Given the description of an element on the screen output the (x, y) to click on. 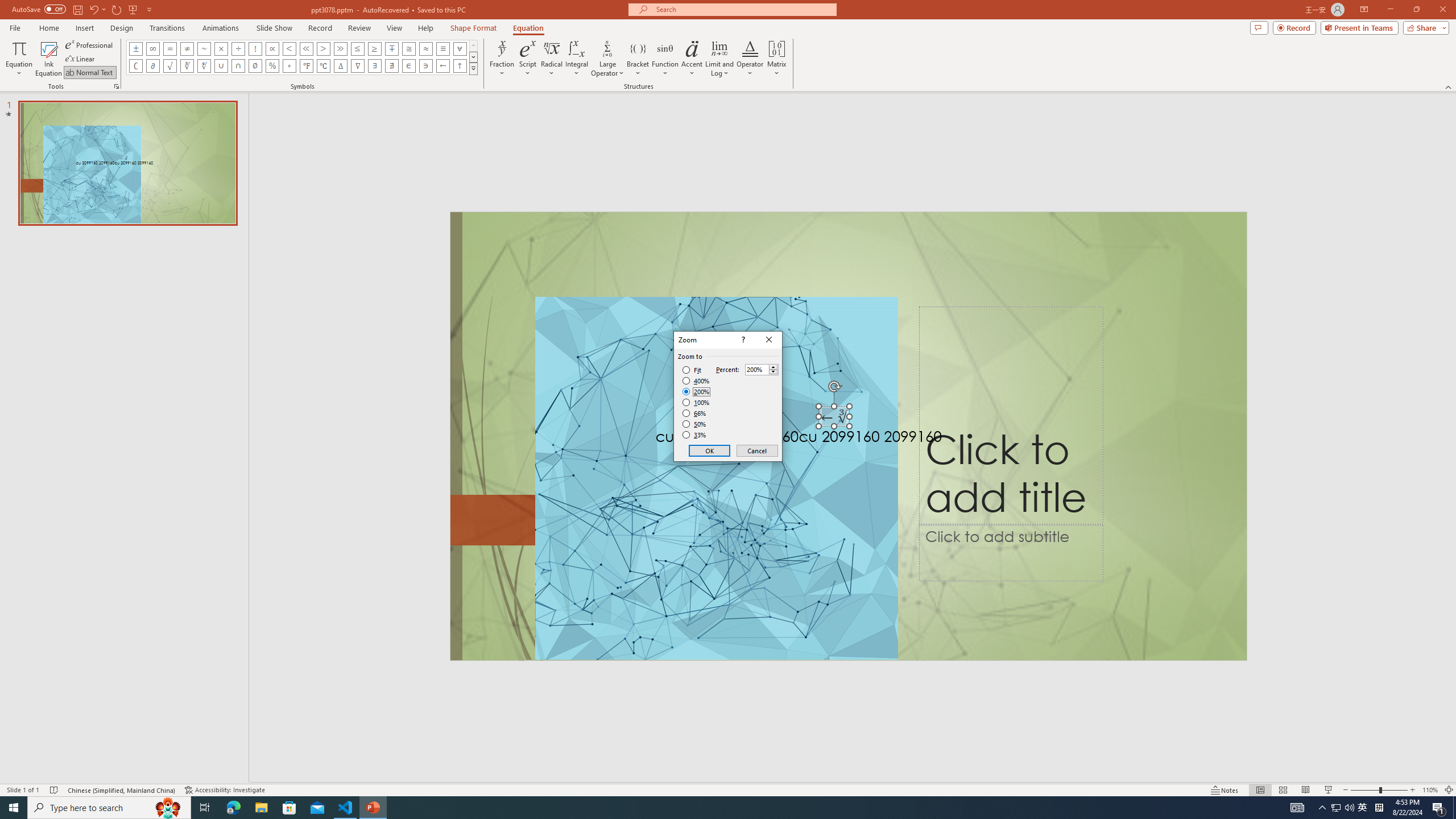
Equation Options... (116, 85)
Cancel (756, 450)
Equation Symbol Degrees Fahrenheit (306, 65)
Equation Symbol Cube Root (187, 65)
Limit and Log (719, 58)
Script (527, 58)
